Given the description of an element on the screen output the (x, y) to click on. 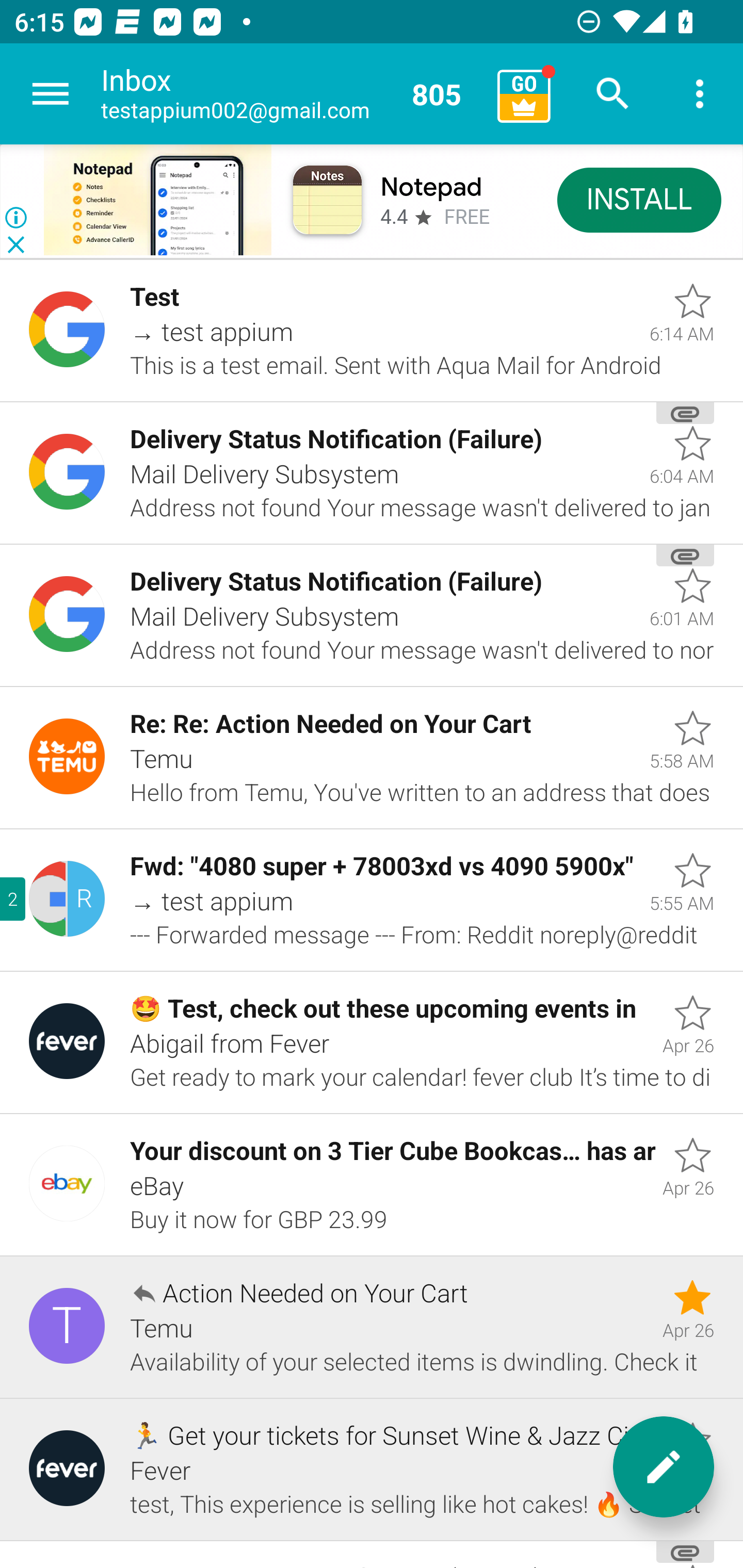
Navigate up (50, 93)
Inbox testappium002@gmail.com 805 (291, 93)
Search (612, 93)
More options (699, 93)
New message (663, 1466)
